Given the description of an element on the screen output the (x, y) to click on. 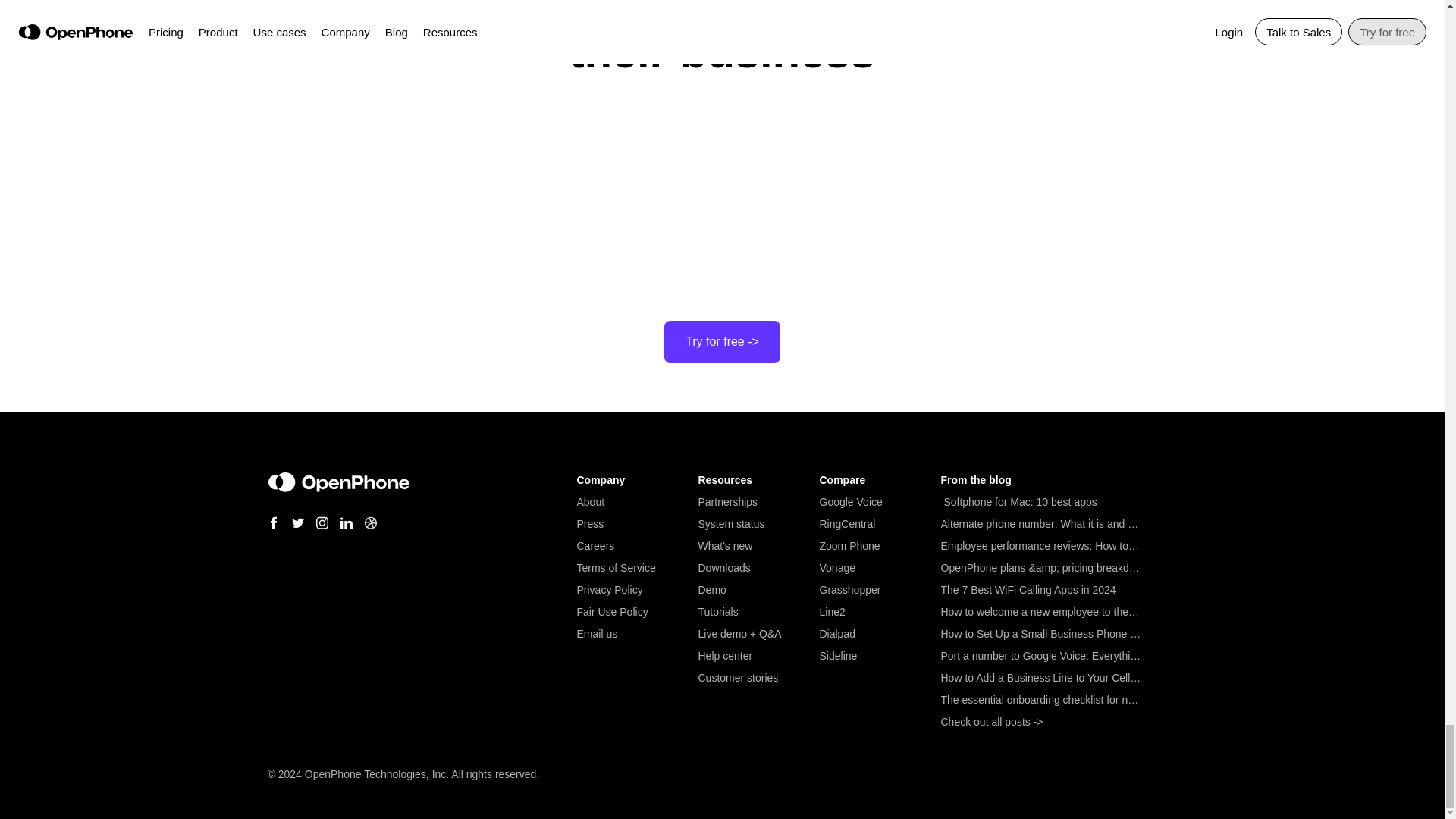
Dribbble (369, 522)
Instagram (321, 522)
LinkedIn (345, 522)
Twitter (296, 522)
Facebook (272, 522)
